Given the description of an element on the screen output the (x, y) to click on. 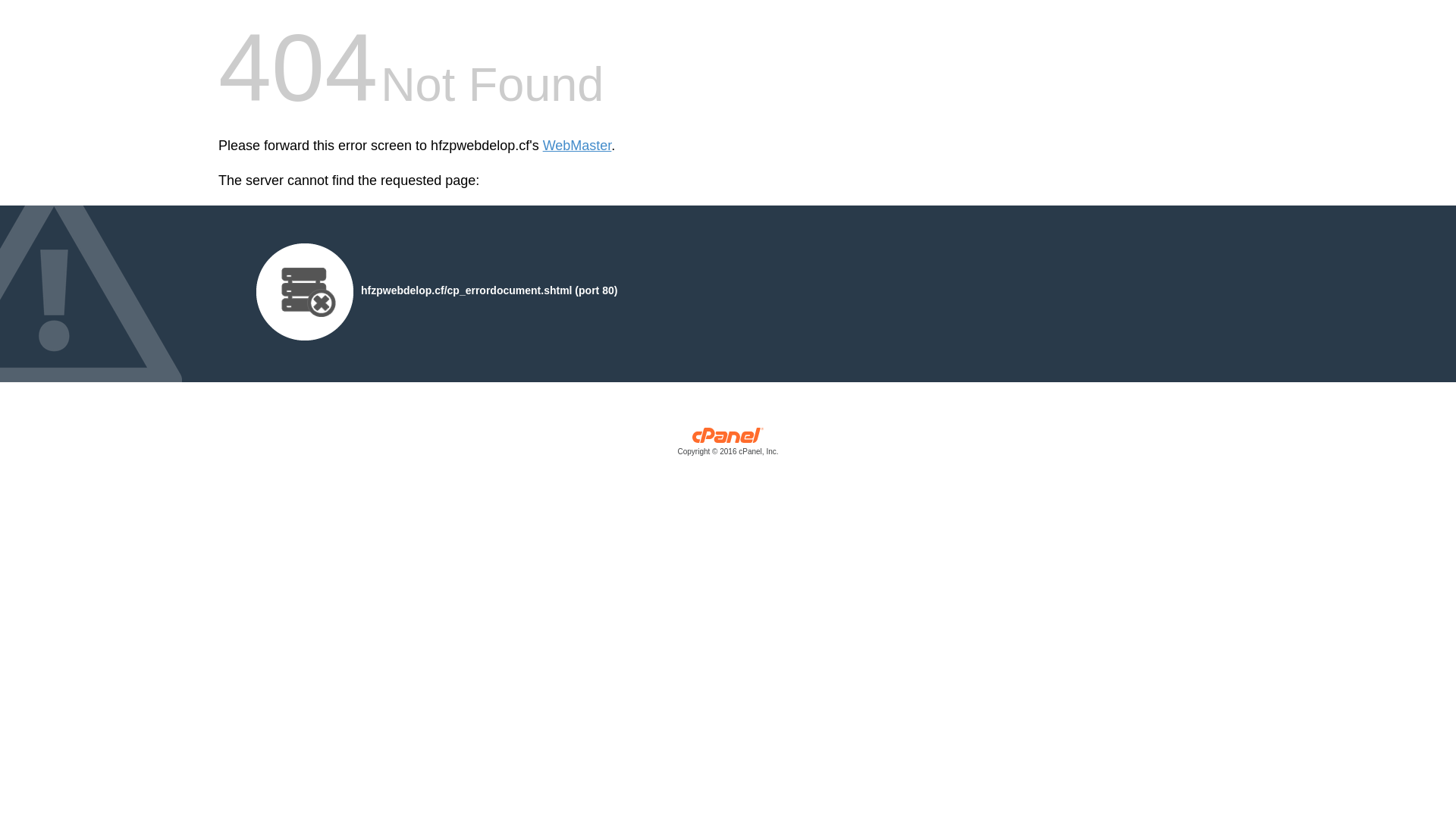
WebMaster Element type: text (576, 145)
